Given the description of an element on the screen output the (x, y) to click on. 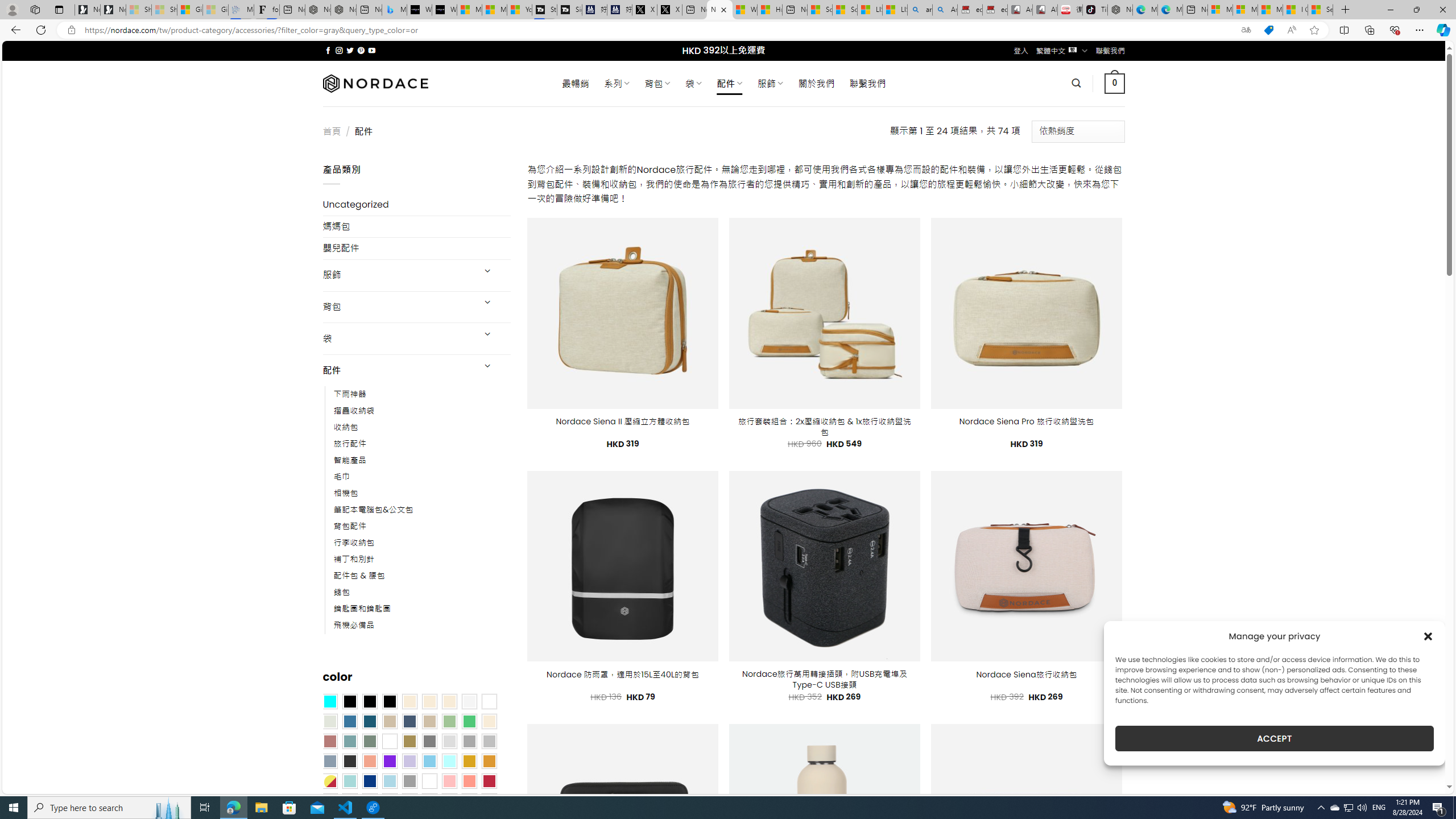
Address and search bar (658, 29)
 0  (1115, 83)
